Given the description of an element on the screen output the (x, y) to click on. 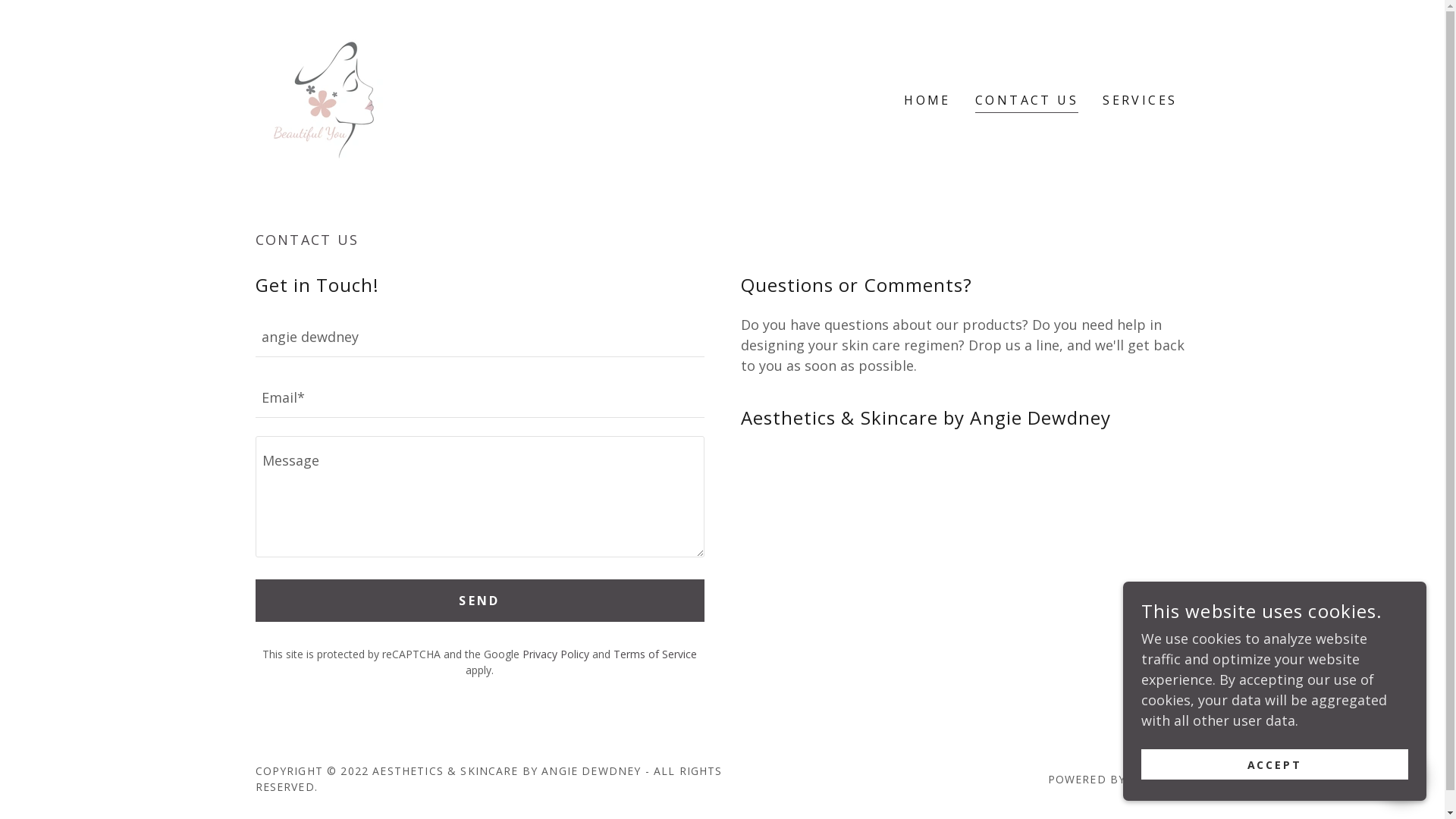
CONTACT US Element type: text (1026, 101)
SERVICES Element type: text (1139, 99)
Terms of Service Element type: text (654, 653)
Aesthetics & Skincare
 by 
Angie Dewdney Element type: hover (321, 98)
GODADDY Element type: text (1159, 778)
ACCEPT Element type: text (1274, 764)
SEND Element type: text (478, 600)
HOME Element type: text (927, 99)
Privacy Policy Element type: text (555, 653)
